Given the description of an element on the screen output the (x, y) to click on. 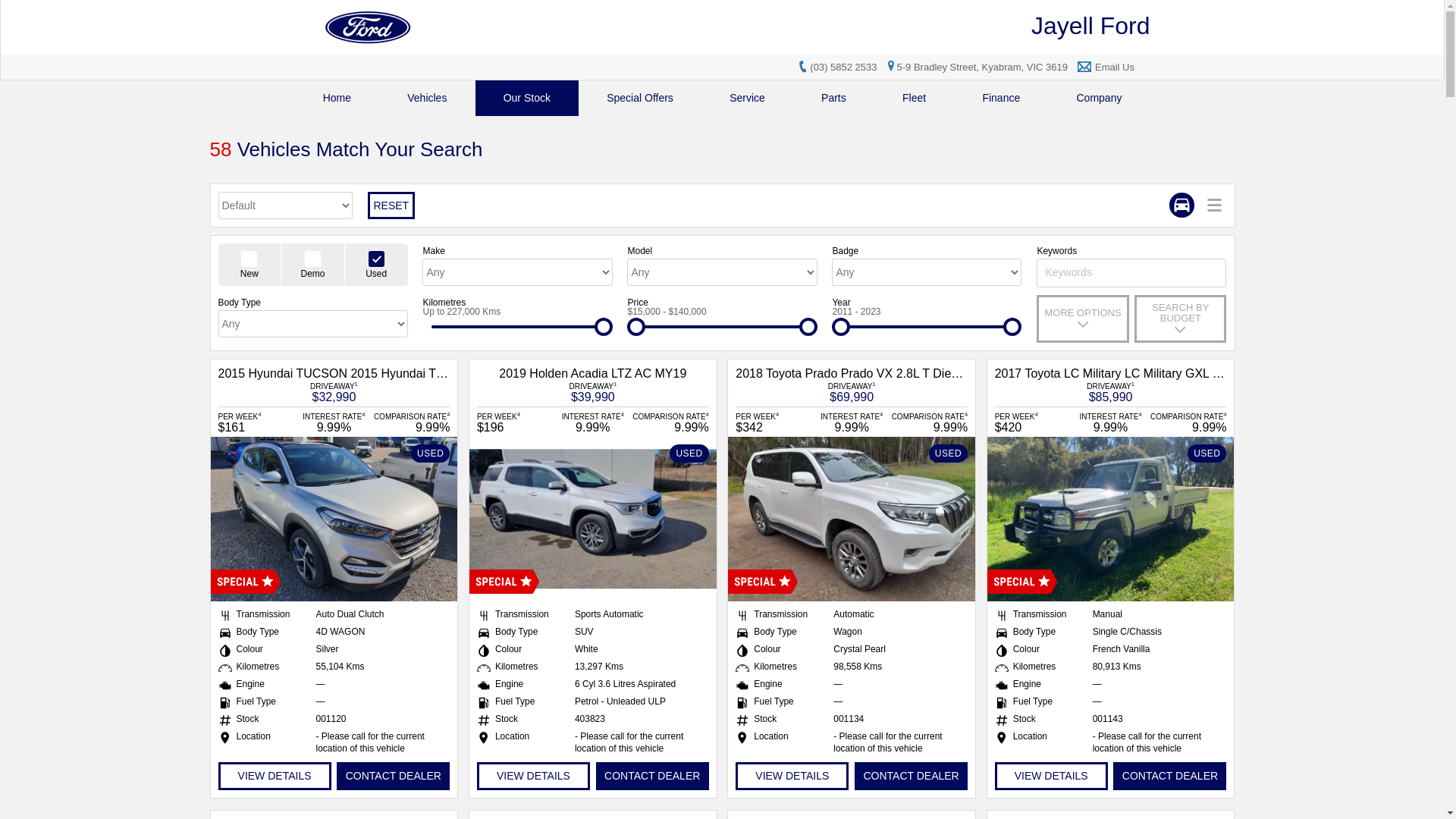
USED Element type: text (334, 518)
MORE OPTIONS Element type: text (1082, 318)
CONTACT DEALER Element type: text (652, 776)
DRIVEAWAY1
$69,990 Element type: text (851, 391)
Email Us Element type: text (1114, 66)
USED Element type: text (851, 518)
PER WEEK4
$161 Element type: text (256, 422)
Fleet Element type: text (913, 98)
Service Element type: text (747, 98)
DRIVEAWAY1
$85,990 Element type: text (1110, 391)
SEARCH BY BUDGET Element type: text (1180, 318)
INTEREST RATE4
9.99% Element type: text (851, 422)
(03) 5852 2533 Element type: text (842, 66)
CONTACT DEALER Element type: text (910, 776)
CONTACT DEALER Element type: text (1169, 776)
Home Element type: text (336, 98)
Finance Element type: text (1000, 98)
PER WEEK4
$342 Element type: text (773, 422)
COMPARISON RATE4
9.99% Element type: text (928, 422)
PER WEEK4
$420 Element type: text (1033, 422)
COMPARISON RATE4
9.99% Element type: text (1187, 422)
USED Element type: text (1110, 518)
Our Stock Element type: text (527, 98)
VIEW DETAILS Element type: text (274, 776)
COMPARISON RATE4
9.99% Element type: text (410, 422)
INTEREST RATE4
9.99% Element type: text (592, 422)
5-9 Bradley Street, Kyabram, VIC 3619 Element type: text (975, 66)
DRIVEAWAY1
$32,990 Element type: text (334, 391)
Company Element type: text (1098, 98)
VIEW DETAILS Element type: text (791, 776)
Vehicles Element type: text (426, 98)
INTEREST RATE4
9.99% Element type: text (1110, 422)
VIEW DETAILS Element type: text (1050, 776)
CONTACT DEALER Element type: text (392, 776)
USED Element type: text (592, 518)
DRIVEAWAY1
$39,990 Element type: text (592, 391)
INTEREST RATE4
9.99% Element type: text (333, 422)
VIEW DETAILS Element type: text (532, 776)
COMPARISON RATE4
9.99% Element type: text (670, 422)
Parts Element type: text (833, 98)
Special Offers Element type: text (639, 98)
RESET Element type: text (390, 205)
PER WEEK4
$196 Element type: text (515, 422)
